Given the description of an element on the screen output the (x, y) to click on. 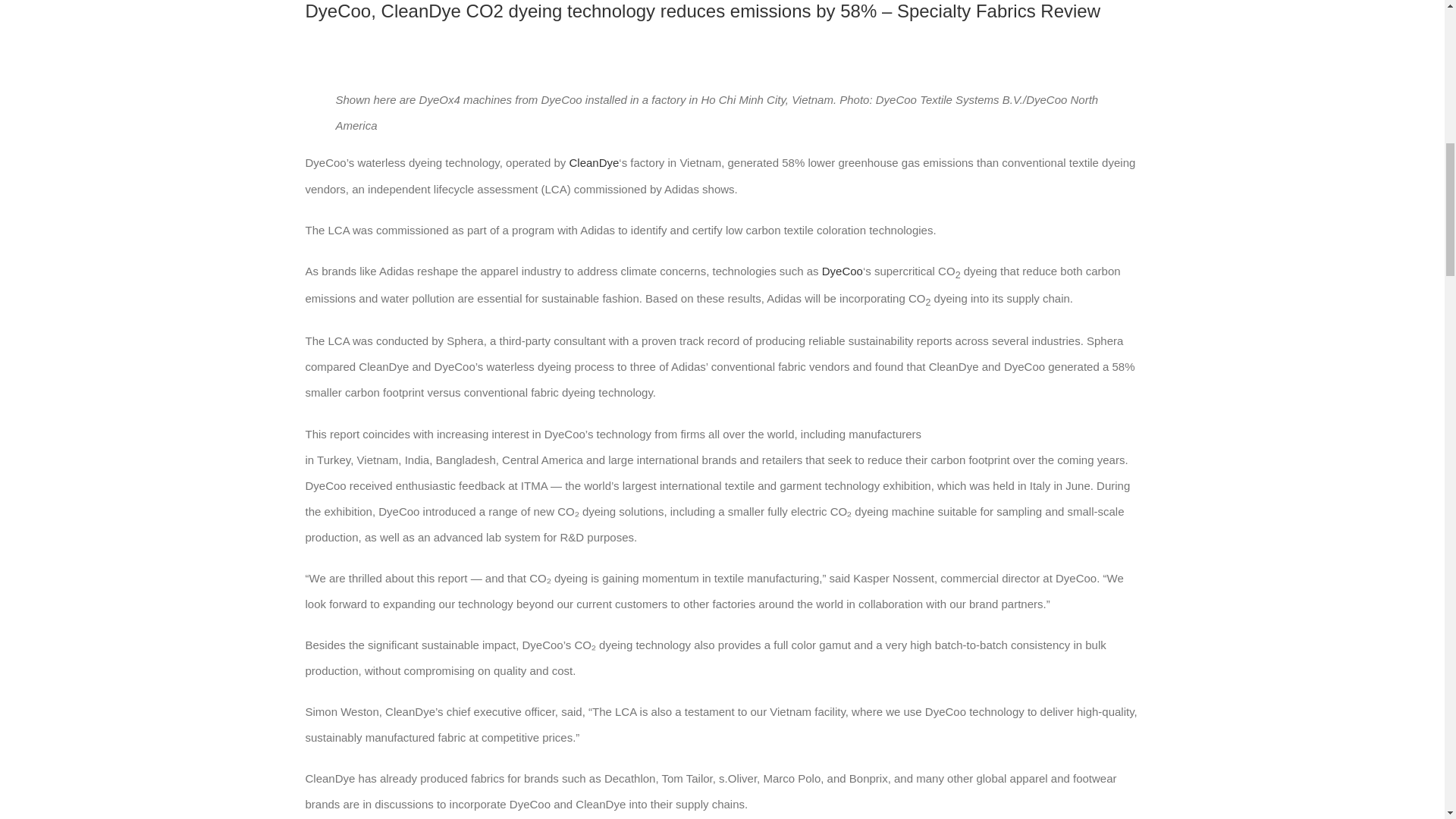
CleanDye (593, 162)
DyeCoo (842, 270)
